Given the description of an element on the screen output the (x, y) to click on. 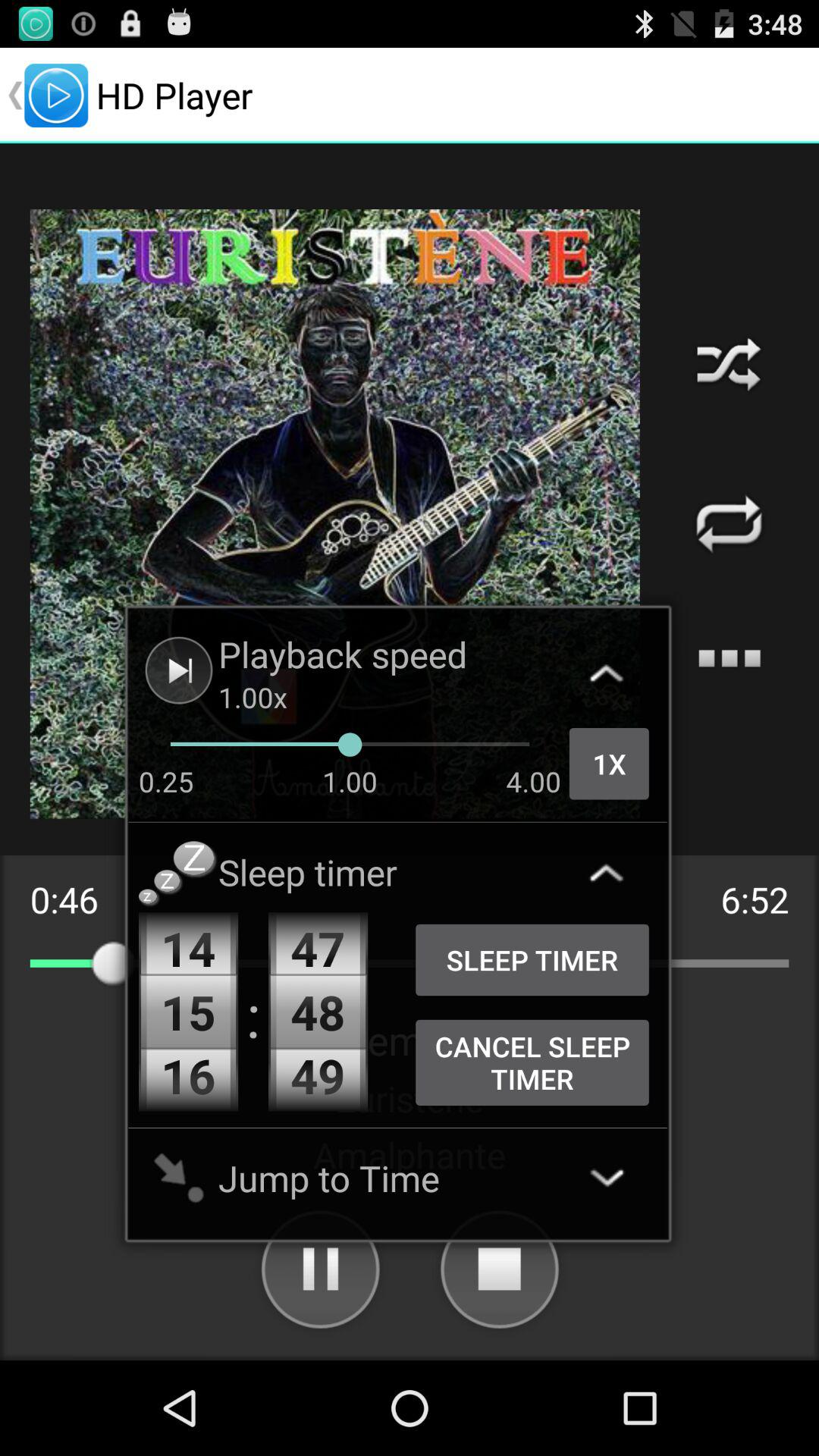
jump until the 1x item (608, 763)
